Given the description of an element on the screen output the (x, y) to click on. 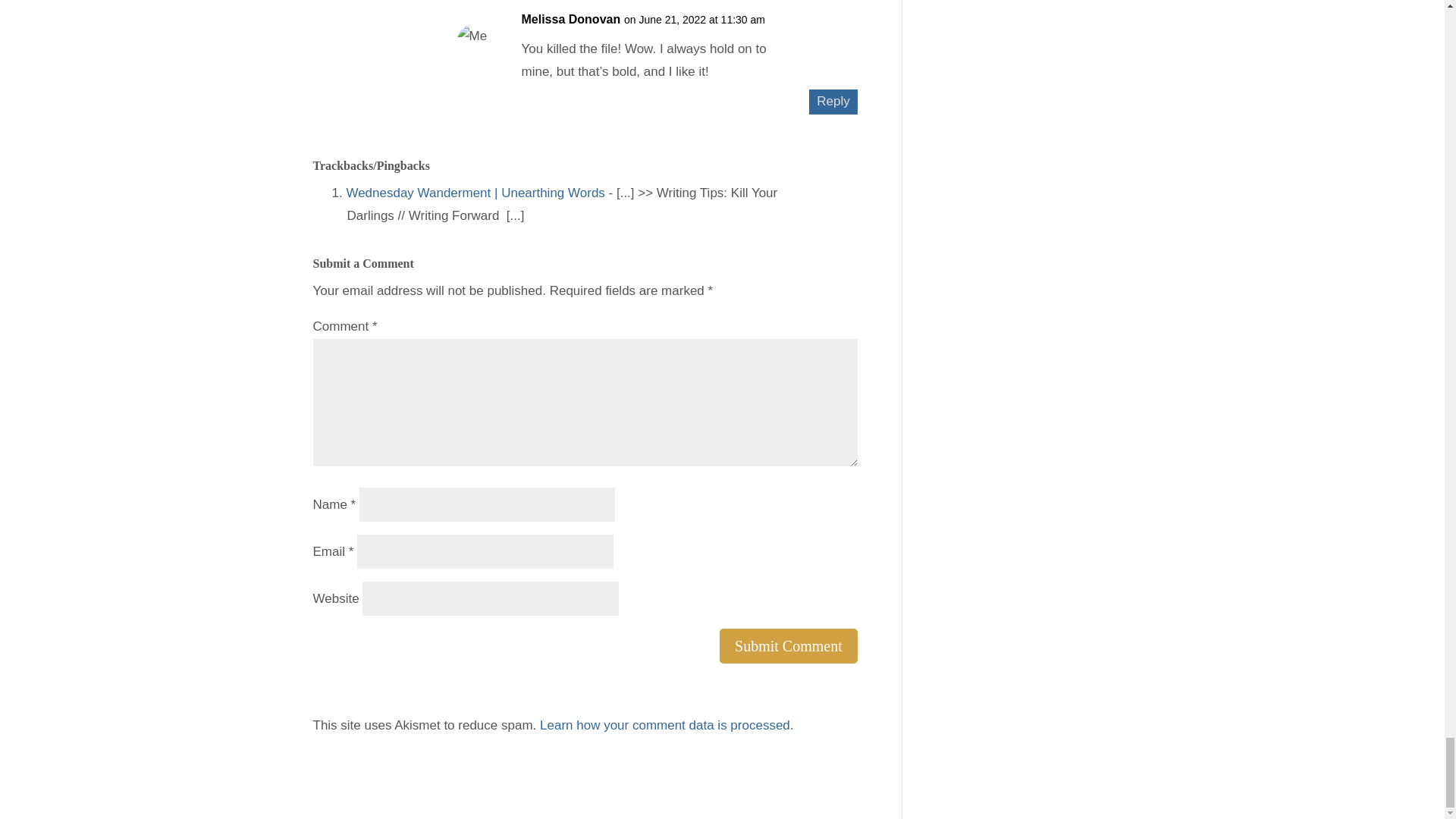
Submit Comment (788, 645)
